Given the description of an element on the screen output the (x, y) to click on. 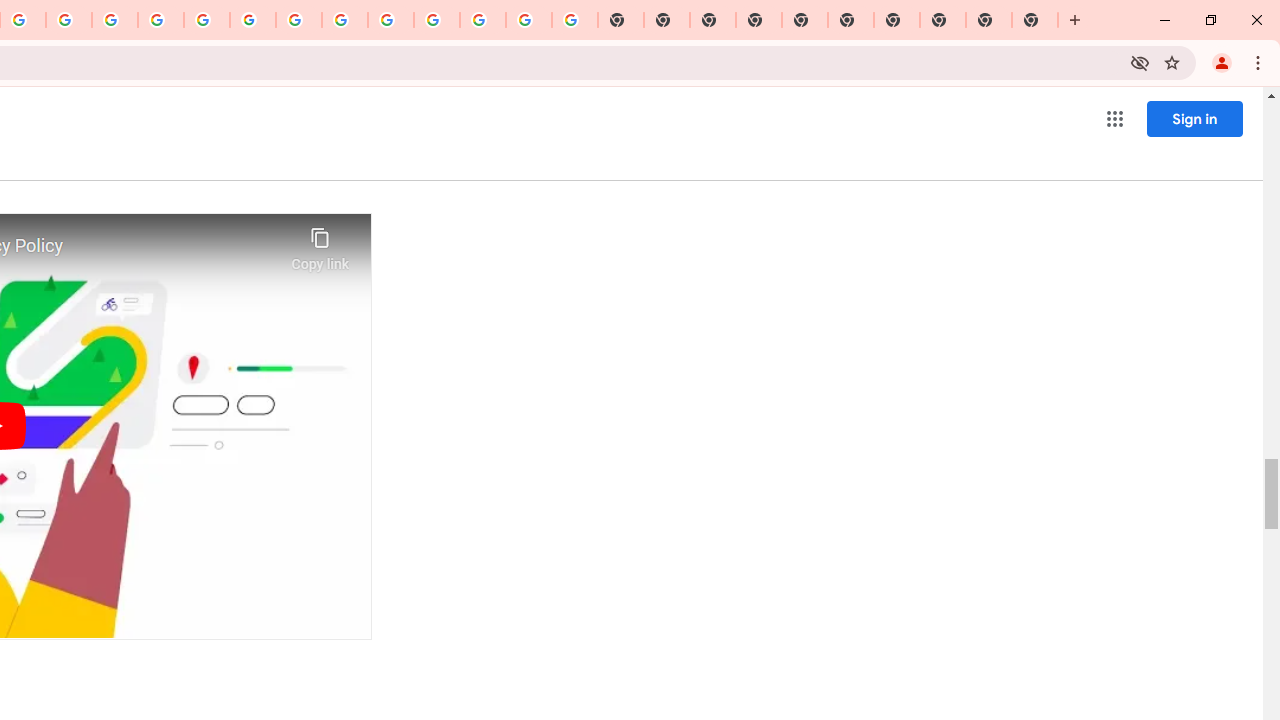
Privacy Help Center - Policies Help (115, 20)
